Given the description of an element on the screen output the (x, y) to click on. 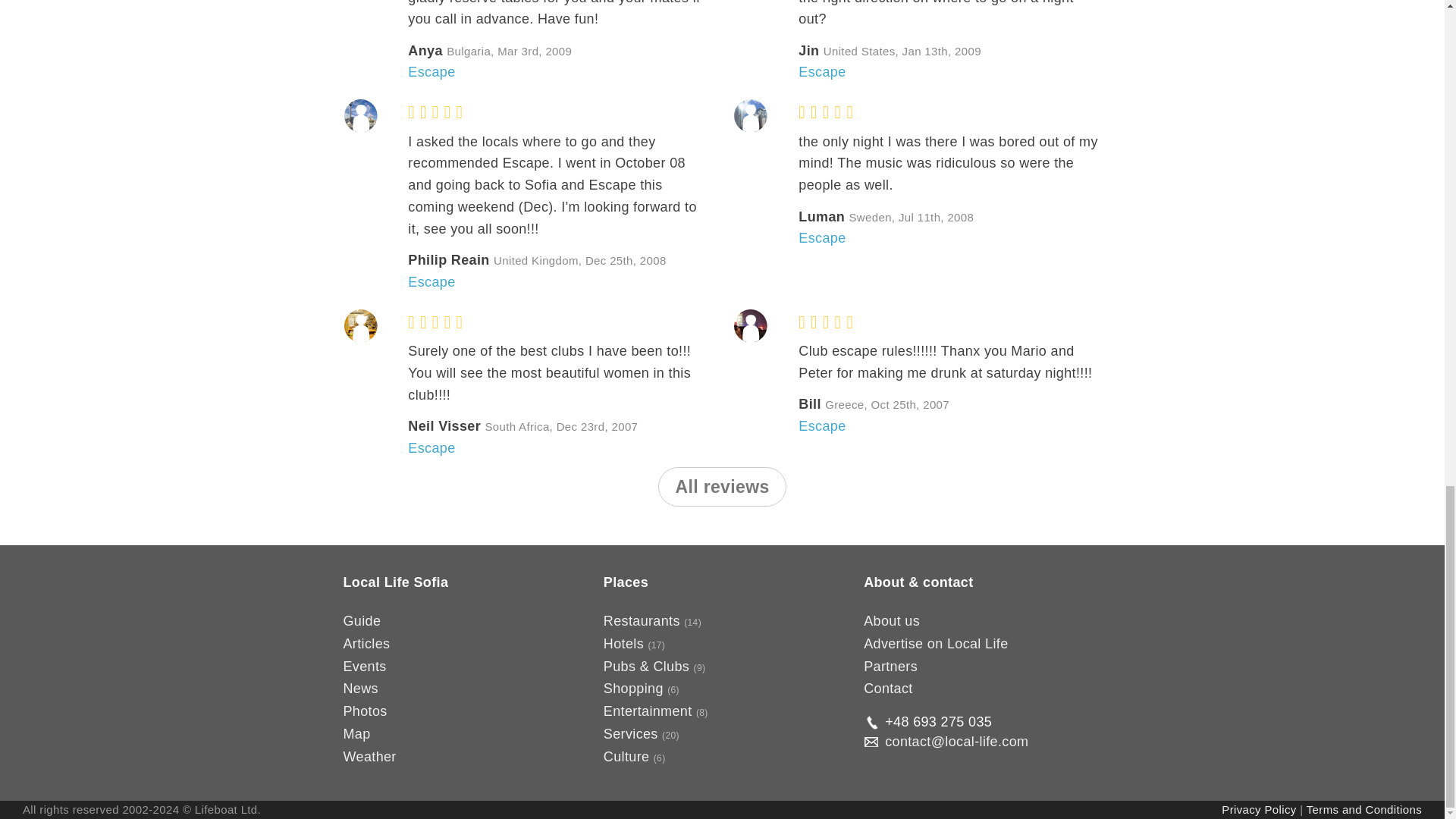
Escape (430, 447)
Escape (821, 237)
Escape (430, 281)
All reviews (722, 486)
Escape (430, 71)
Escape (821, 426)
Escape (821, 71)
